Given the description of an element on the screen output the (x, y) to click on. 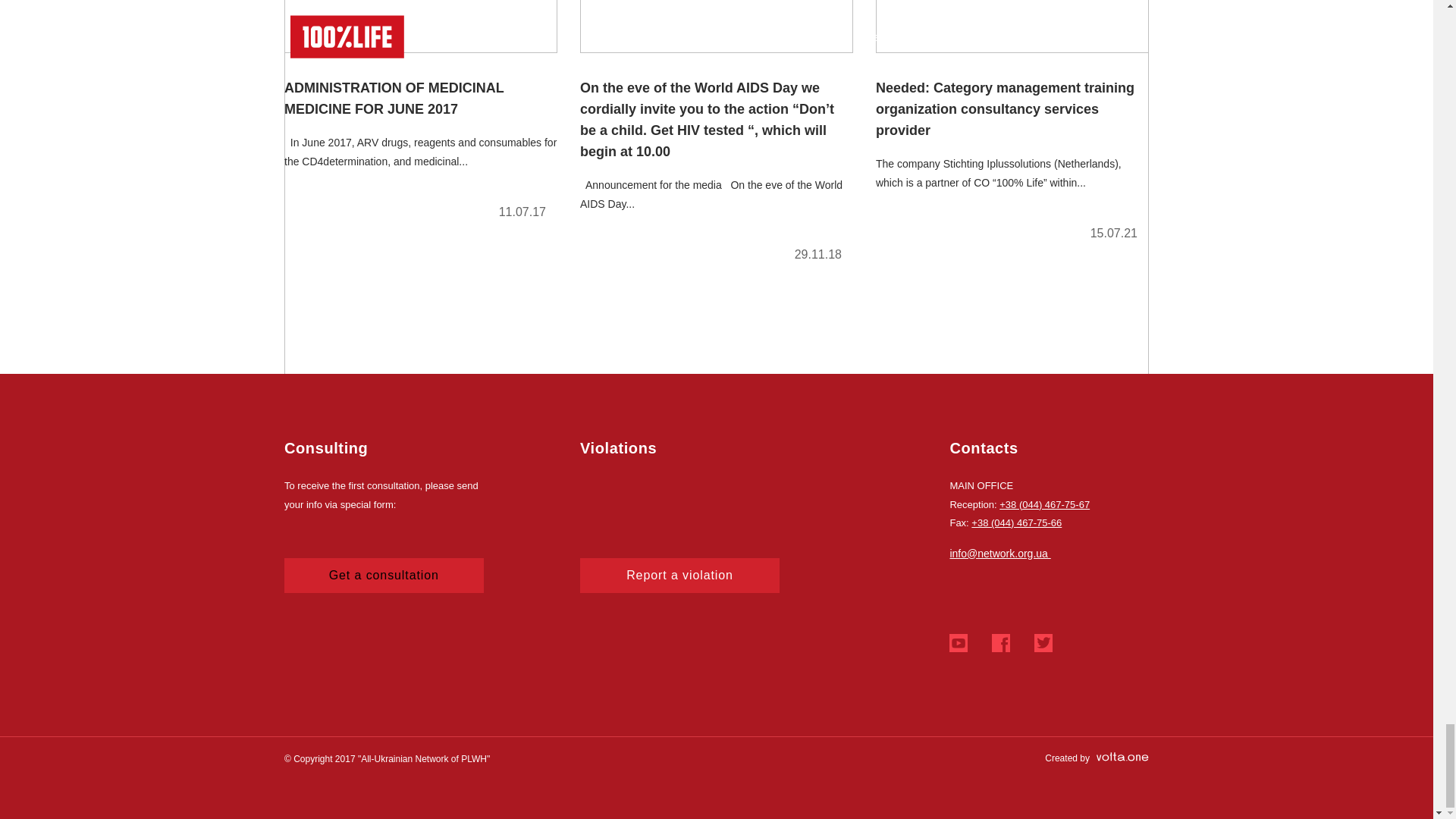
ADMINISTRATION OF MEDICINAL MEDICINE FOR JUNE 2017 (420, 116)
Get a consultation (383, 574)
Created by (1096, 757)
Get a consultation (383, 574)
Report a violation (678, 574)
Report a violation (678, 574)
